Given the description of an element on the screen output the (x, y) to click on. 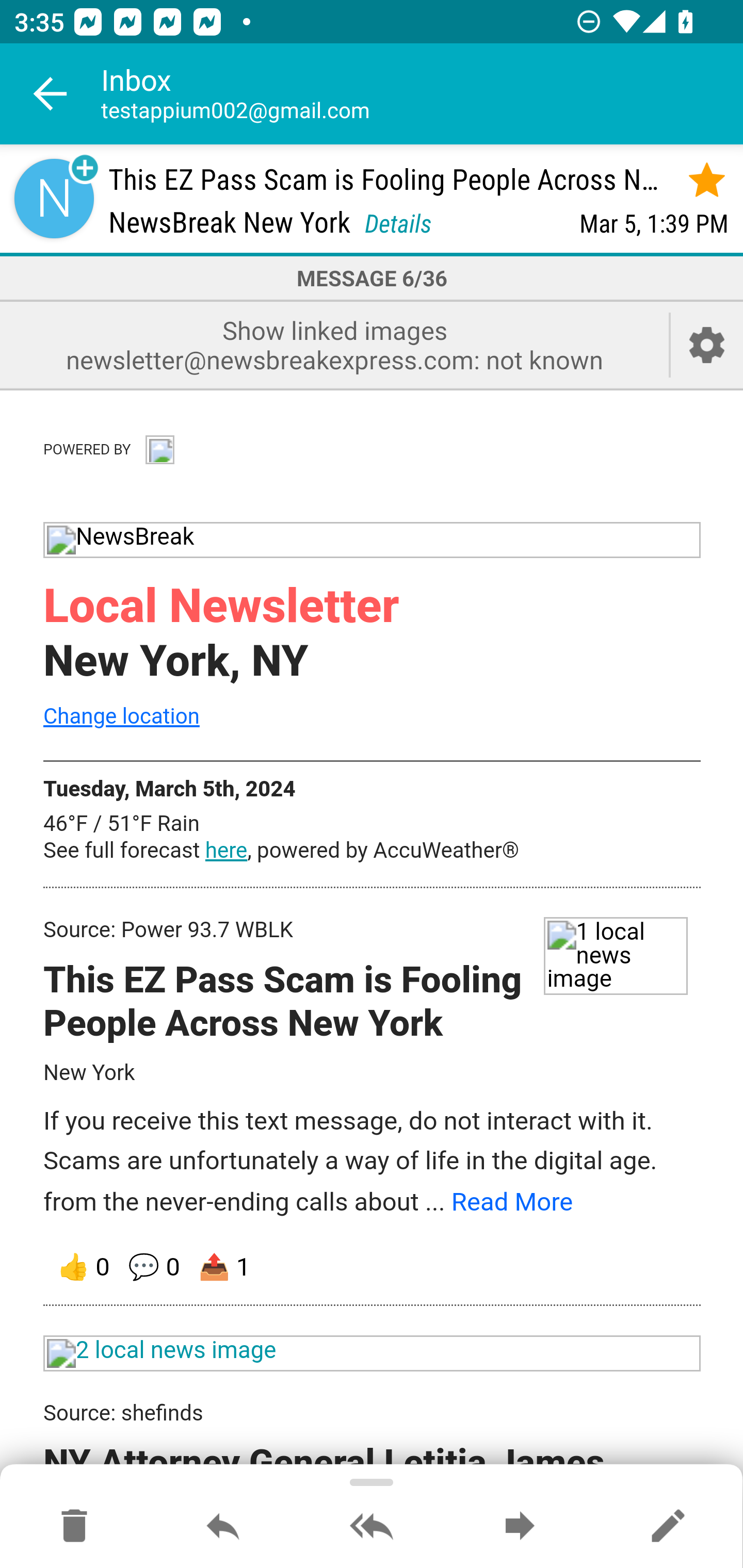
Navigate up (50, 93)
Inbox testappium002@gmail.com (422, 93)
Sender contact button (53, 198)
Account setup (706, 344)
info (159, 447)
Change location (121, 715)
here (225, 850)
👍 0   💬 0   📤 1 (372, 1267)
2 local news image (372, 1353)
Move to Deleted (74, 1527)
Reply (222, 1527)
Reply all (371, 1527)
Forward (519, 1527)
Reply as new (667, 1527)
